Given the description of an element on the screen output the (x, y) to click on. 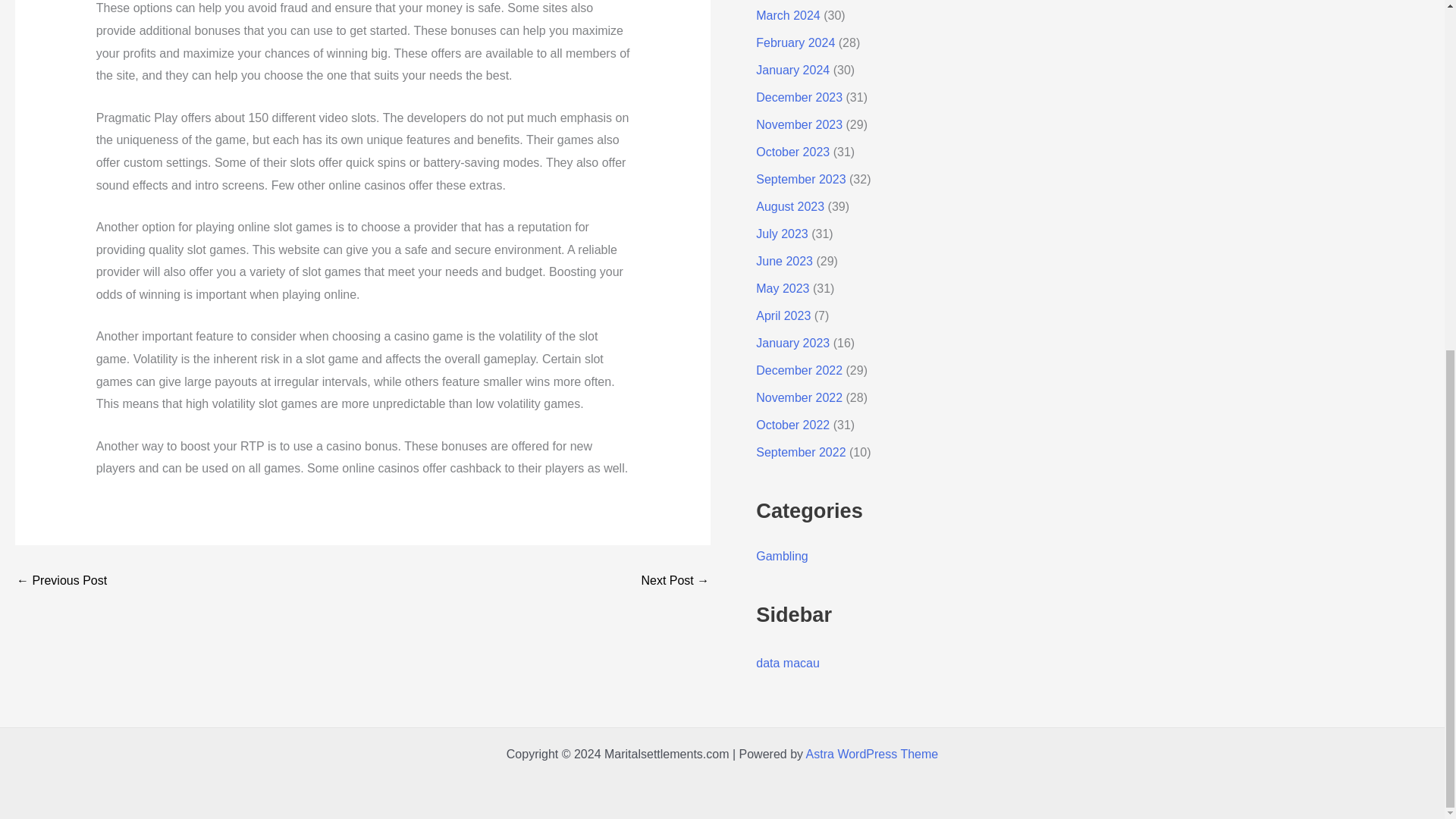
October 2022 (792, 424)
Gambling (781, 555)
August 2023 (789, 205)
November 2022 (799, 397)
January 2023 (792, 342)
December 2023 (799, 97)
October 2023 (792, 151)
Advantages of Playing Poker Online (674, 580)
September 2023 (800, 178)
July 2023 (781, 233)
June 2023 (783, 260)
data macau (787, 662)
December 2022 (799, 369)
April 2023 (782, 315)
SBOBET Review (61, 580)
